Given the description of an element on the screen output the (x, y) to click on. 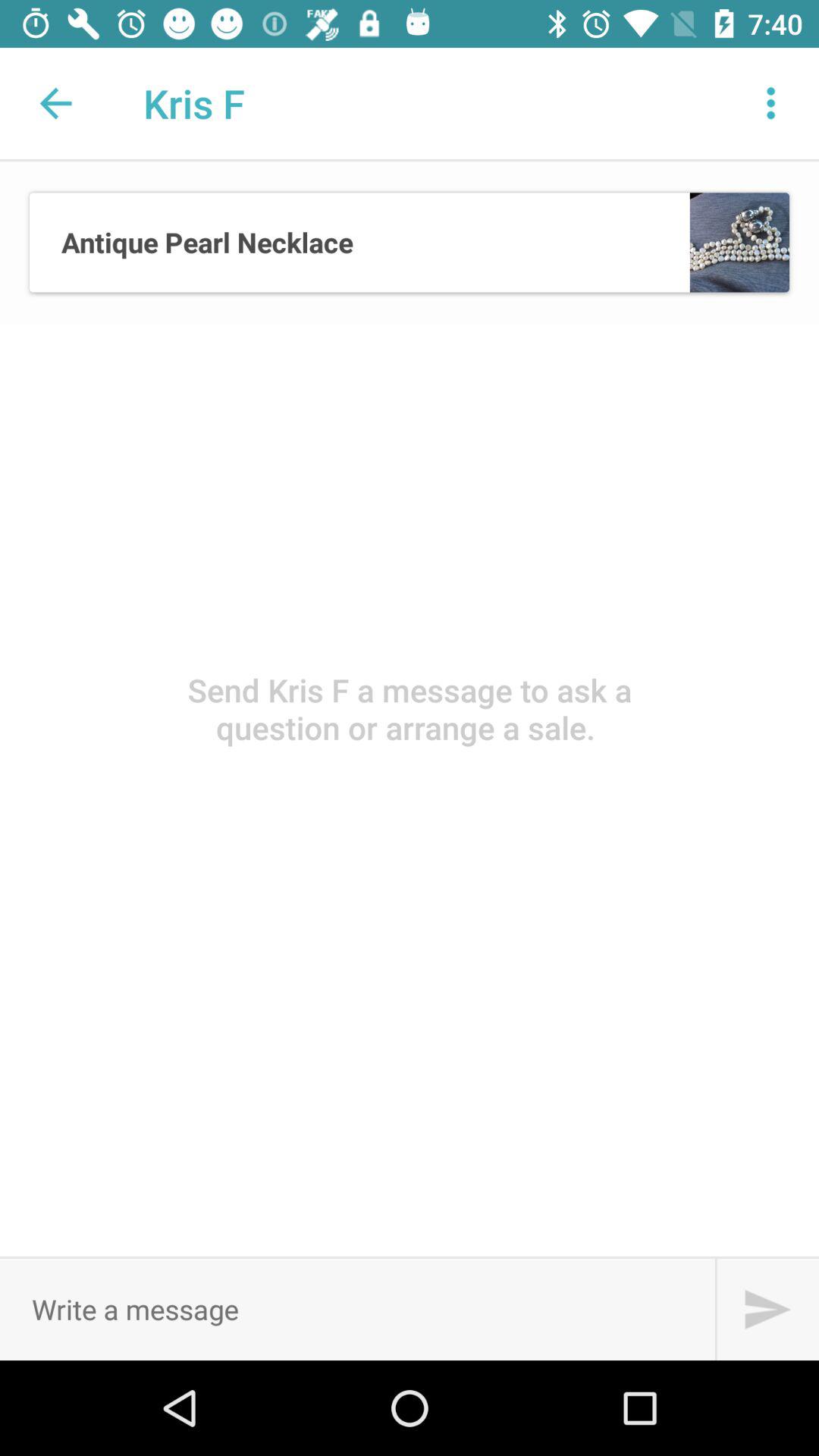
send message (768, 1309)
